Given the description of an element on the screen output the (x, y) to click on. 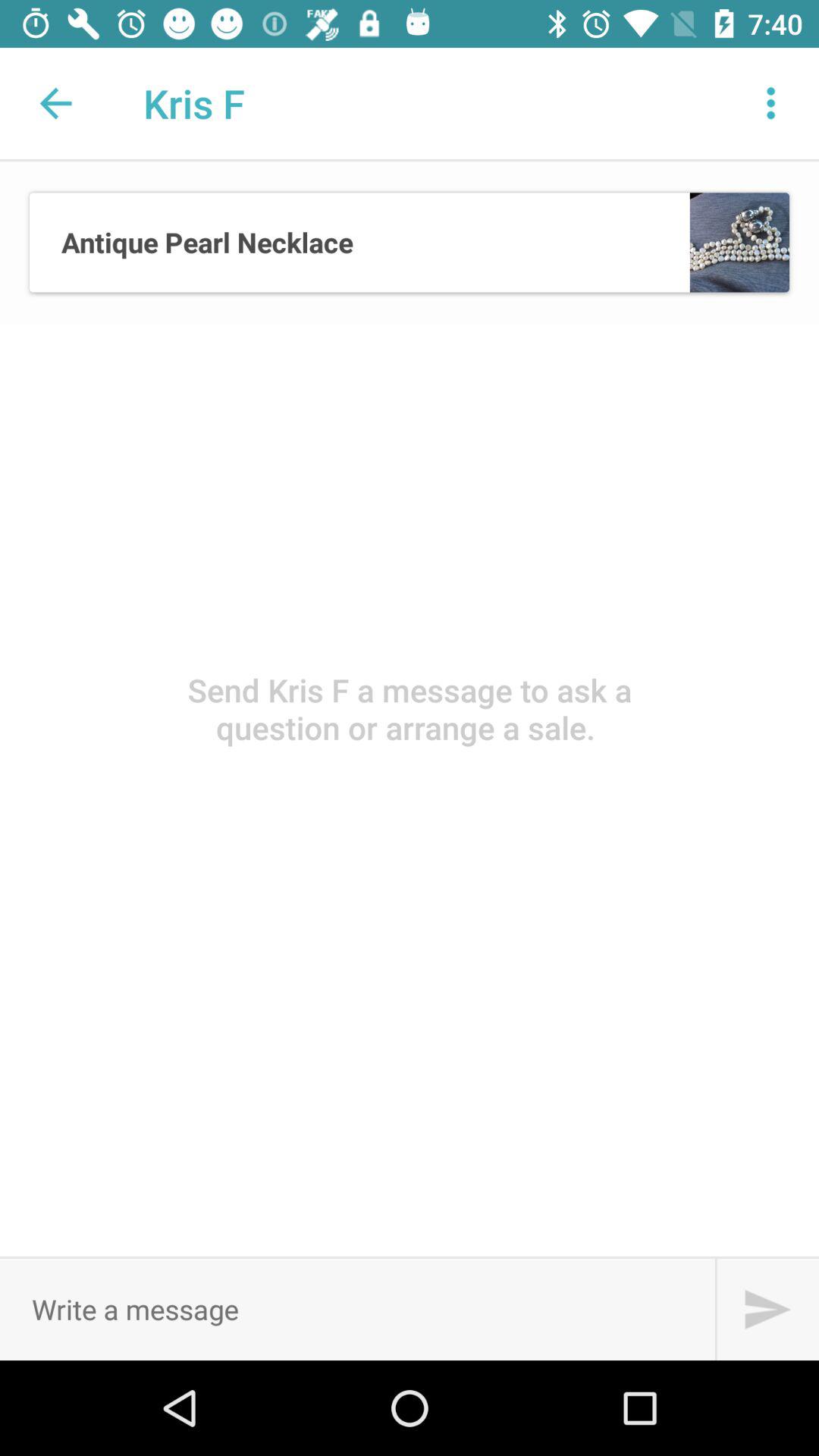
send message (768, 1309)
